Given the description of an element on the screen output the (x, y) to click on. 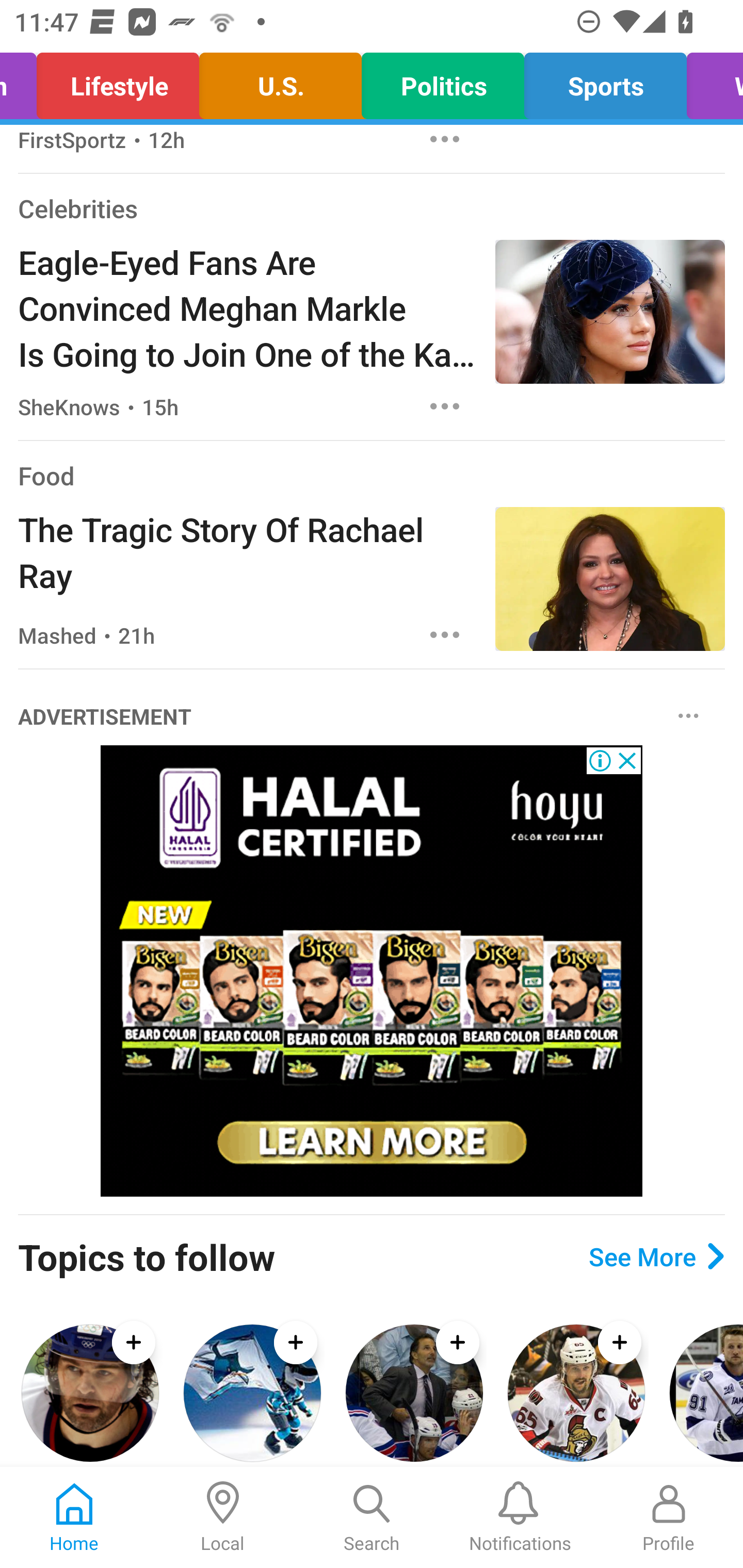
Lifestyle (118, 81)
U.S. (279, 81)
Politics (442, 81)
Sports (605, 81)
Options (444, 143)
Celebrities (77, 208)
Options (444, 406)
Food (46, 474)
Options (444, 634)
Options (688, 715)
28 (371, 970)
See More (656, 1255)
Local (222, 1517)
Search (371, 1517)
Notifications (519, 1517)
Profile (668, 1517)
